Given the description of an element on the screen output the (x, y) to click on. 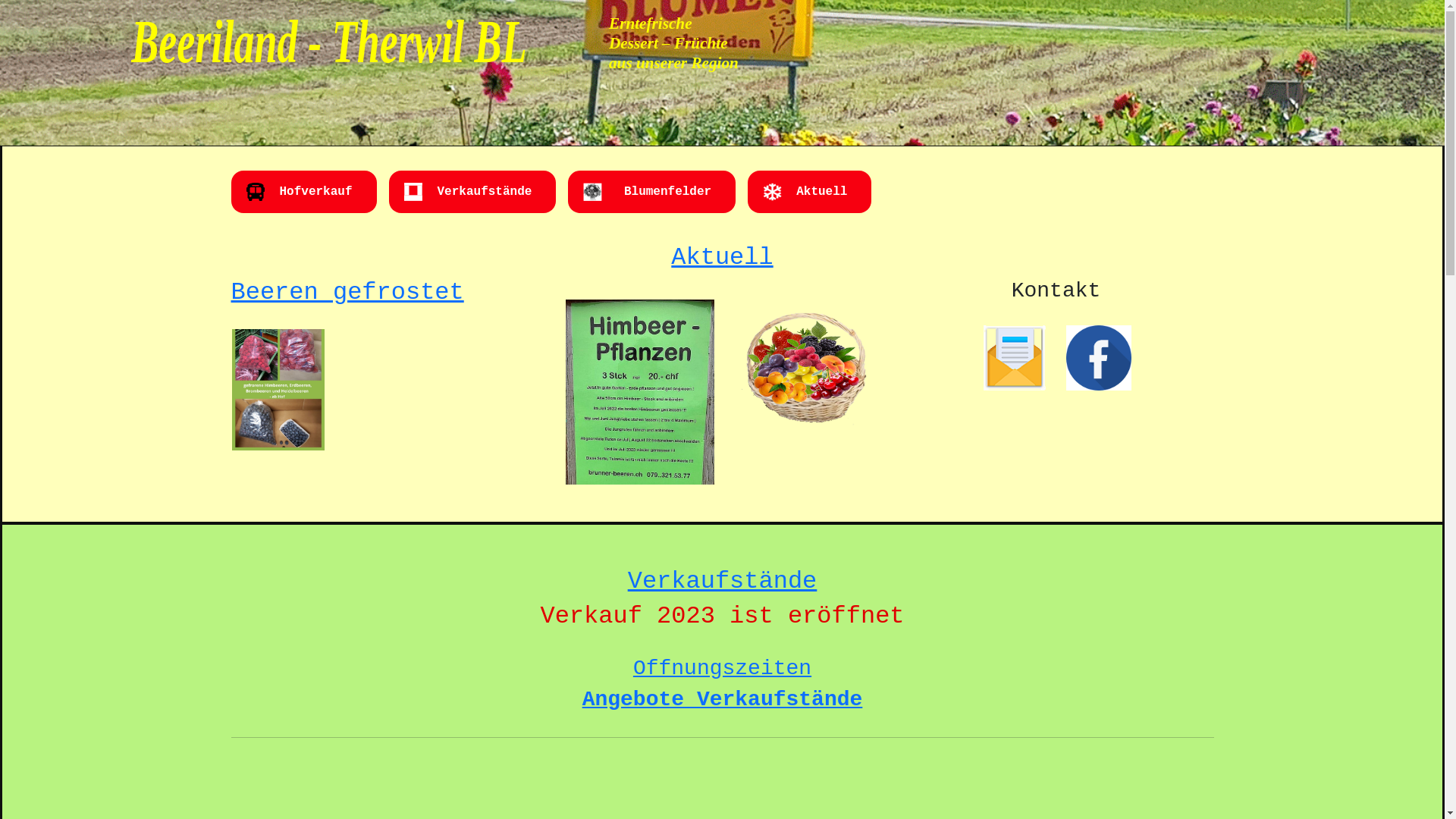
Homepage Beeriland-Therwil Element type: hover (393, 37)
Beeren gefrostet Element type: text (346, 292)
Aktuell Element type: text (821, 191)
Offnungszeiten Element type: text (722, 668)
Hofverkauf Element type: text (315, 191)
 Blumenfelder Element type: text (663, 191)
Aktuell Element type: text (721, 257)
